Given the description of an element on the screen output the (x, y) to click on. 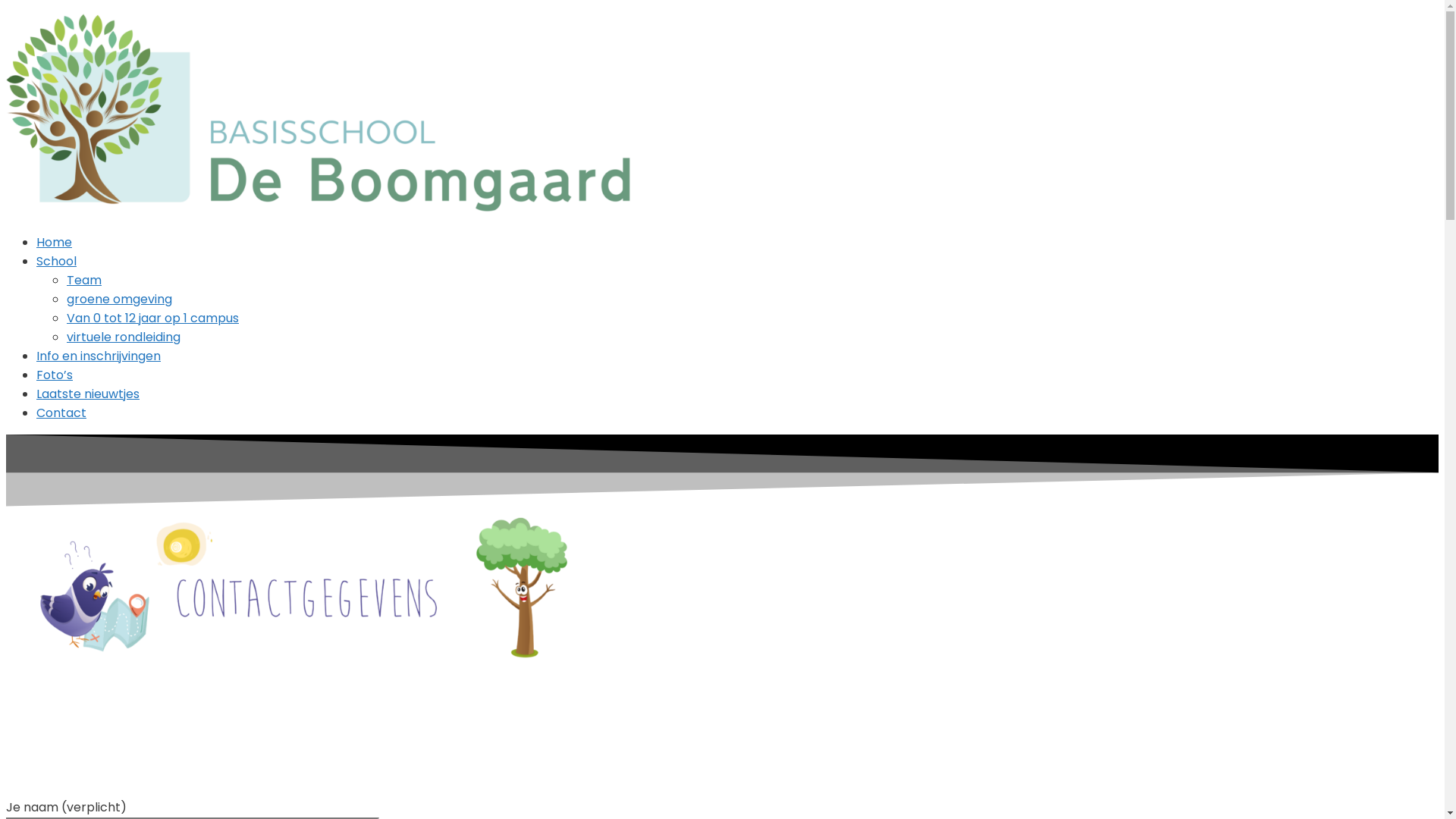
groene omgeving Element type: text (119, 298)
Contact Element type: text (61, 412)
Laatste nieuwtjes Element type: text (87, 393)
Home Element type: text (54, 242)
School Element type: text (56, 260)
Van 0 tot 12 jaar op 1 campus Element type: text (152, 317)
virtuele rondleiding Element type: text (123, 336)
Team Element type: text (83, 279)
Info en inschrijvingen Element type: text (98, 355)
